Given the description of an element on the screen output the (x, y) to click on. 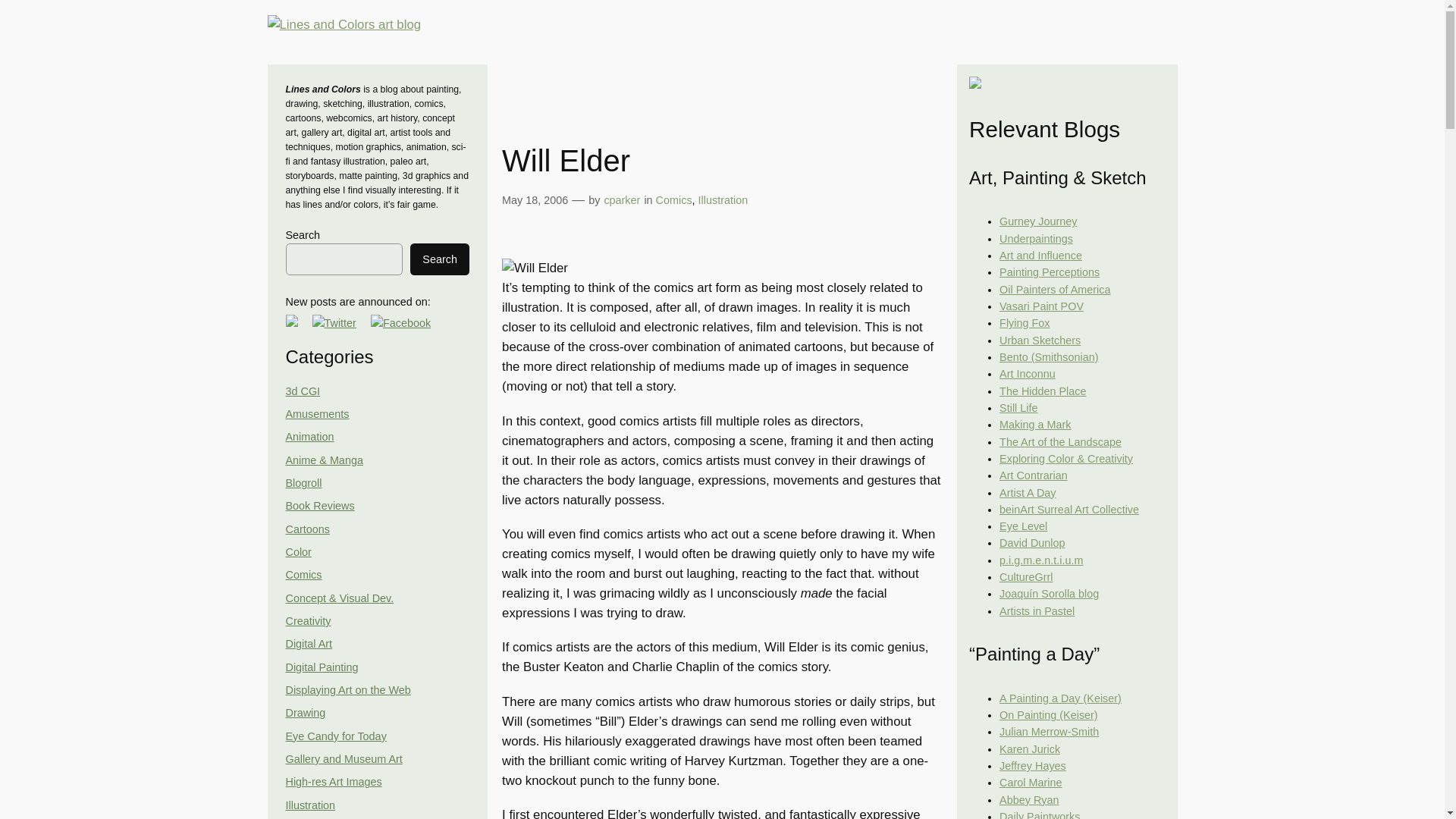
Creativity (307, 621)
Drawing (304, 712)
Eye Candy for Today (335, 736)
Comics (303, 574)
Book Reviews (319, 505)
Search (439, 259)
Amusements (317, 413)
Color (298, 551)
Illustration (309, 805)
Gallery and Museum Art (343, 758)
